Given the description of an element on the screen output the (x, y) to click on. 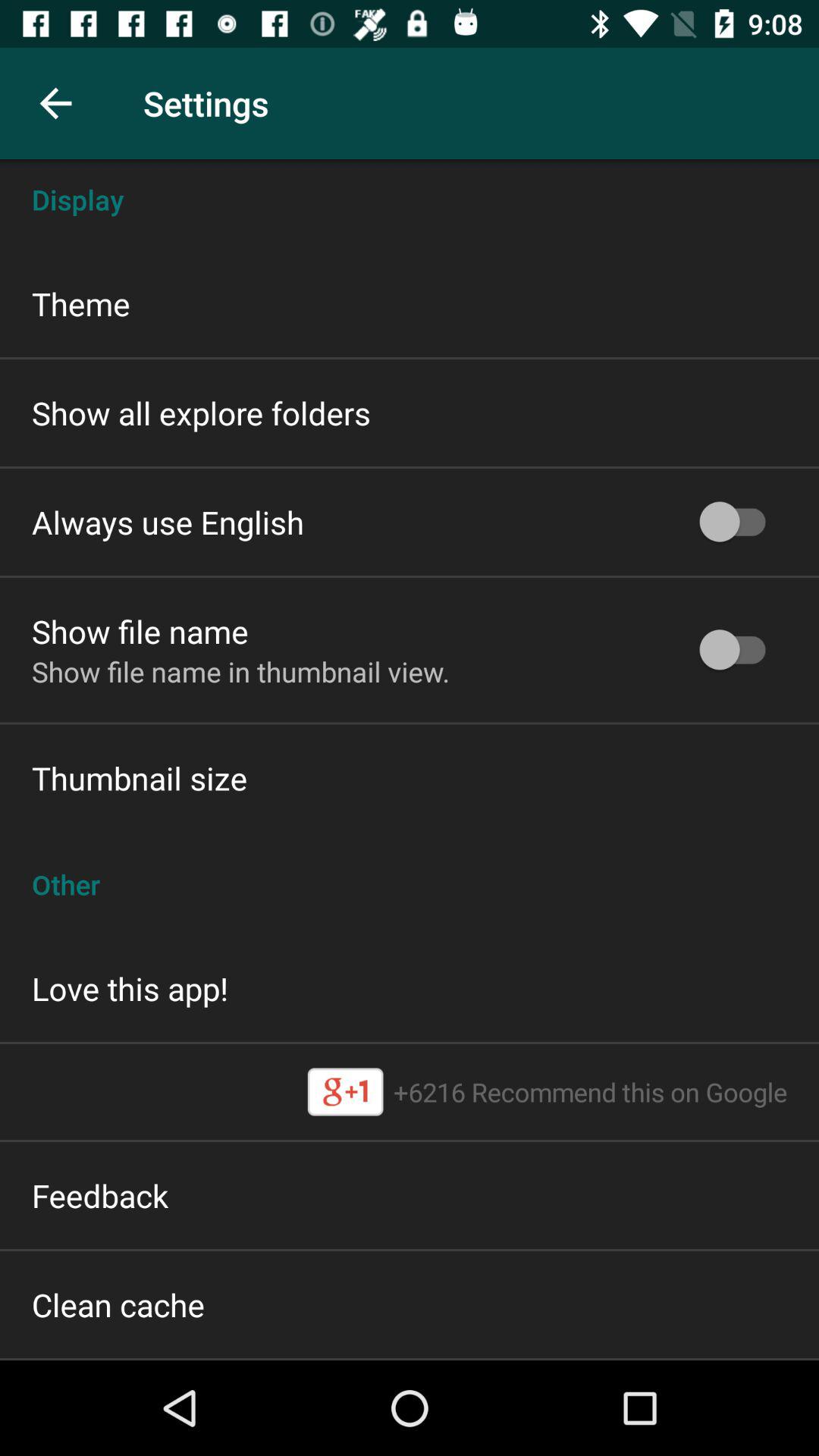
turn on item to the left of settings (55, 103)
